Given the description of an element on the screen output the (x, y) to click on. 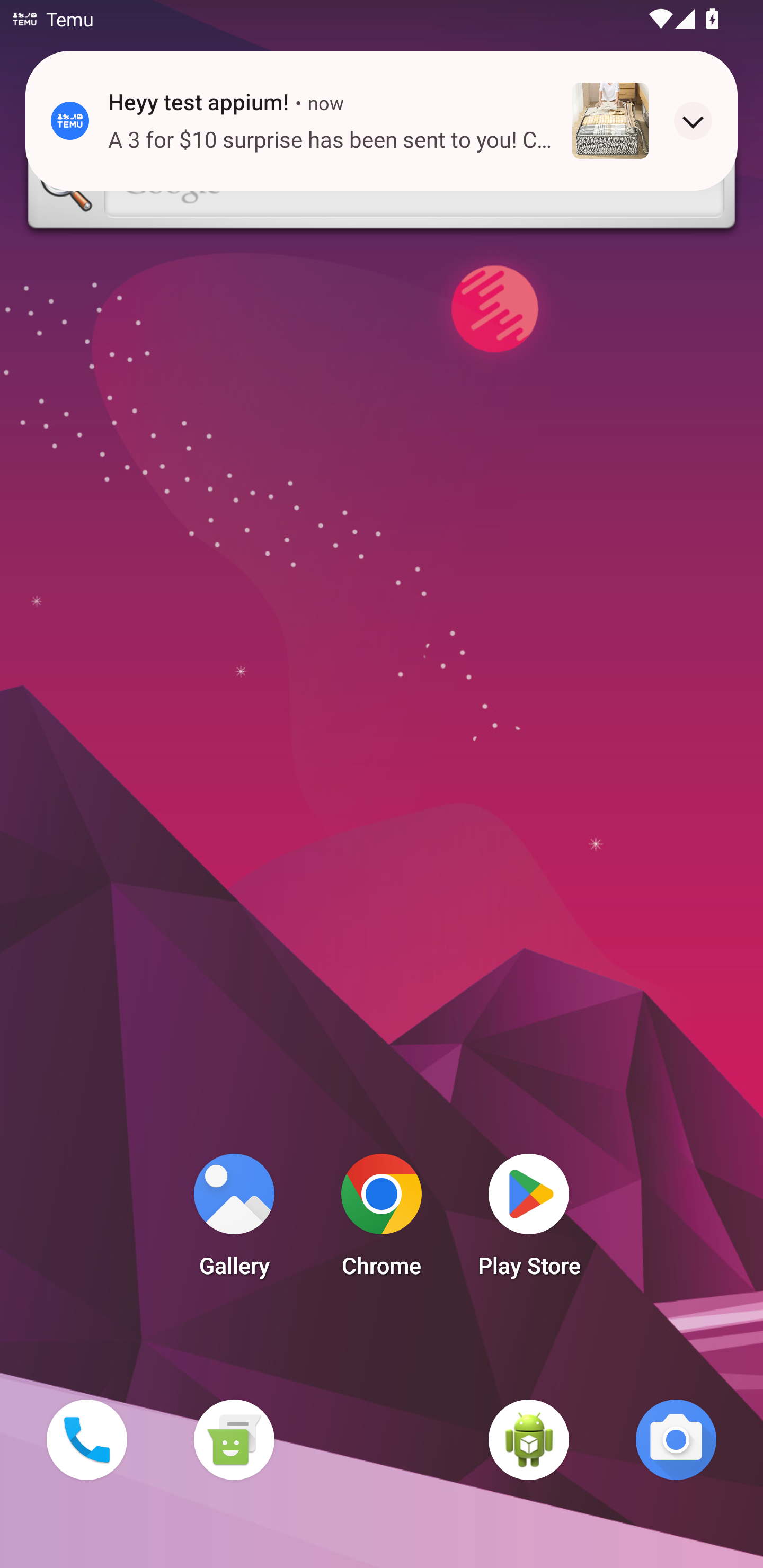
Gallery (233, 1220)
Chrome (381, 1220)
Play Store (528, 1220)
Phone (86, 1439)
Messaging (233, 1439)
WebView Browser Tester (528, 1439)
Camera (676, 1439)
